Given the description of an element on the screen output the (x, y) to click on. 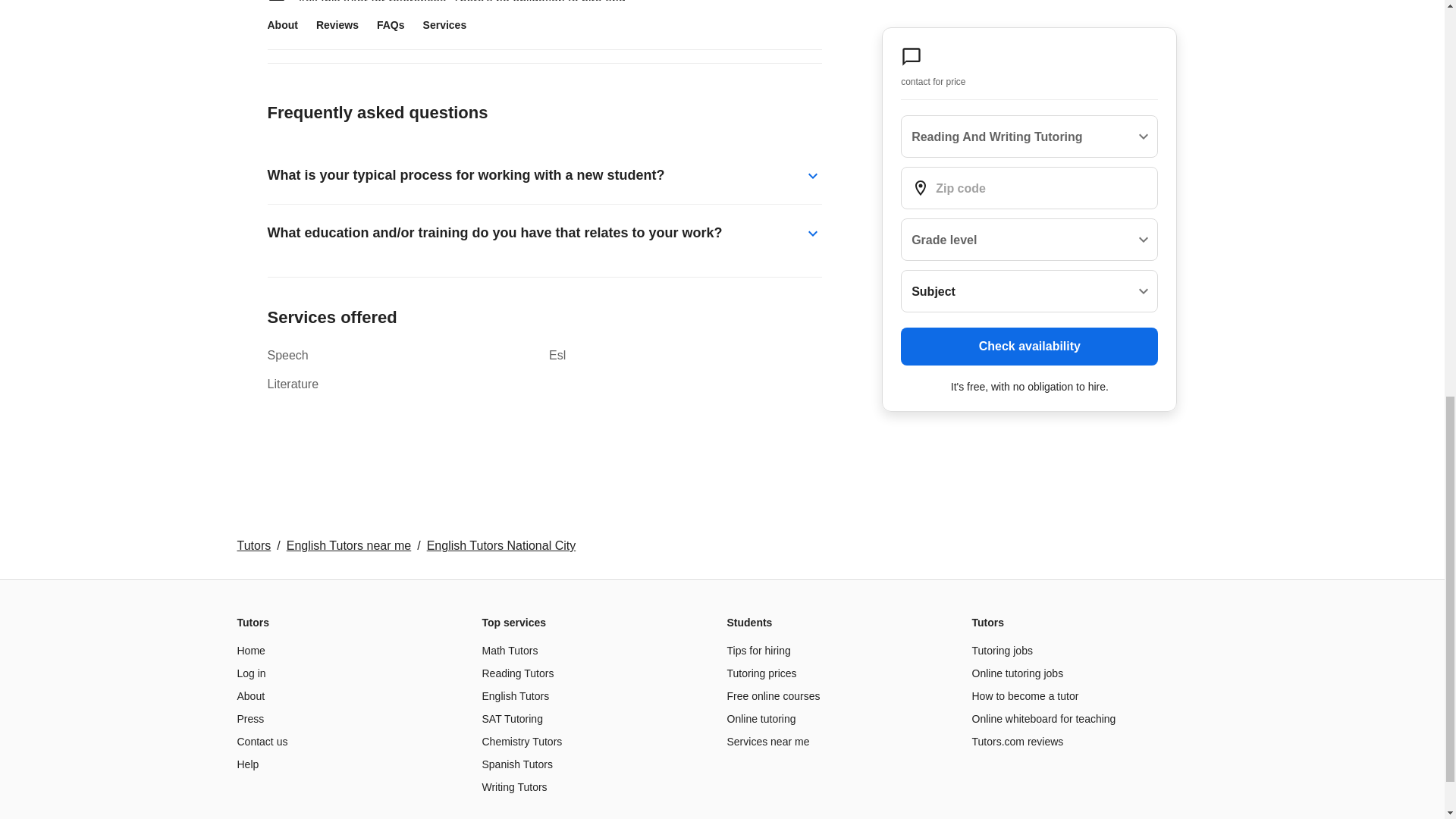
here to help (362, 19)
Help (247, 764)
Tutors (252, 545)
Math Tutors (509, 650)
About (249, 695)
Log in (249, 673)
Press (249, 718)
English Tutors (515, 695)
Reading Tutors (517, 673)
Contact us (260, 741)
SAT Tutoring (512, 718)
English Tutors near me (349, 545)
Home (249, 650)
English Tutors National City (501, 545)
